Given the description of an element on the screen output the (x, y) to click on. 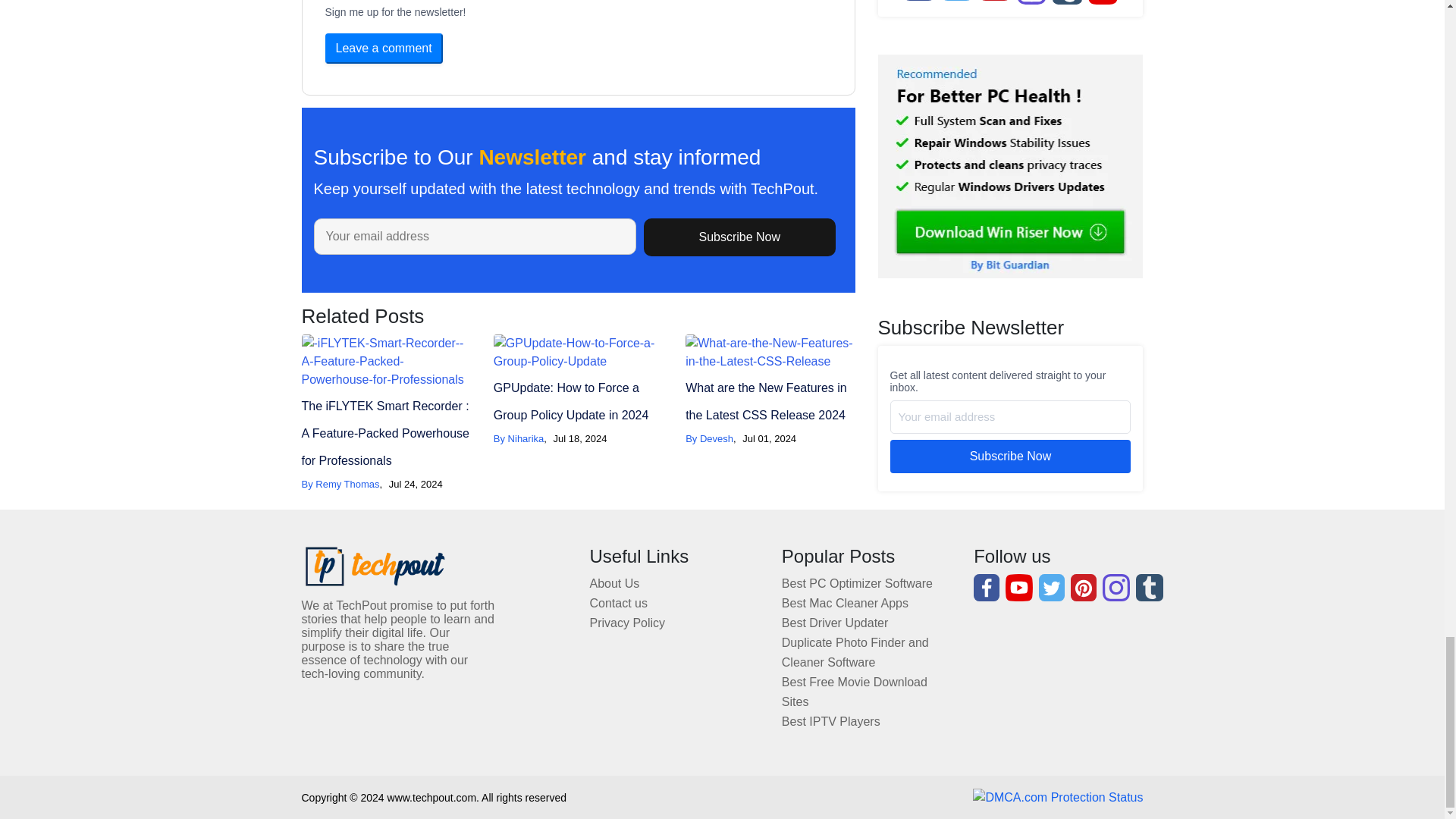
Leave a comment (383, 48)
Subscribe Now (739, 237)
Subscribe Now (739, 237)
By Remy Thomas (340, 483)
By Niharika (518, 438)
Leave a comment (383, 48)
What are the New Features in the Latest CSS Release 2024 (766, 401)
By Devesh (709, 438)
GPUpdate: How to Force a Group Policy Update in 2024 (571, 401)
